Given the description of an element on the screen output the (x, y) to click on. 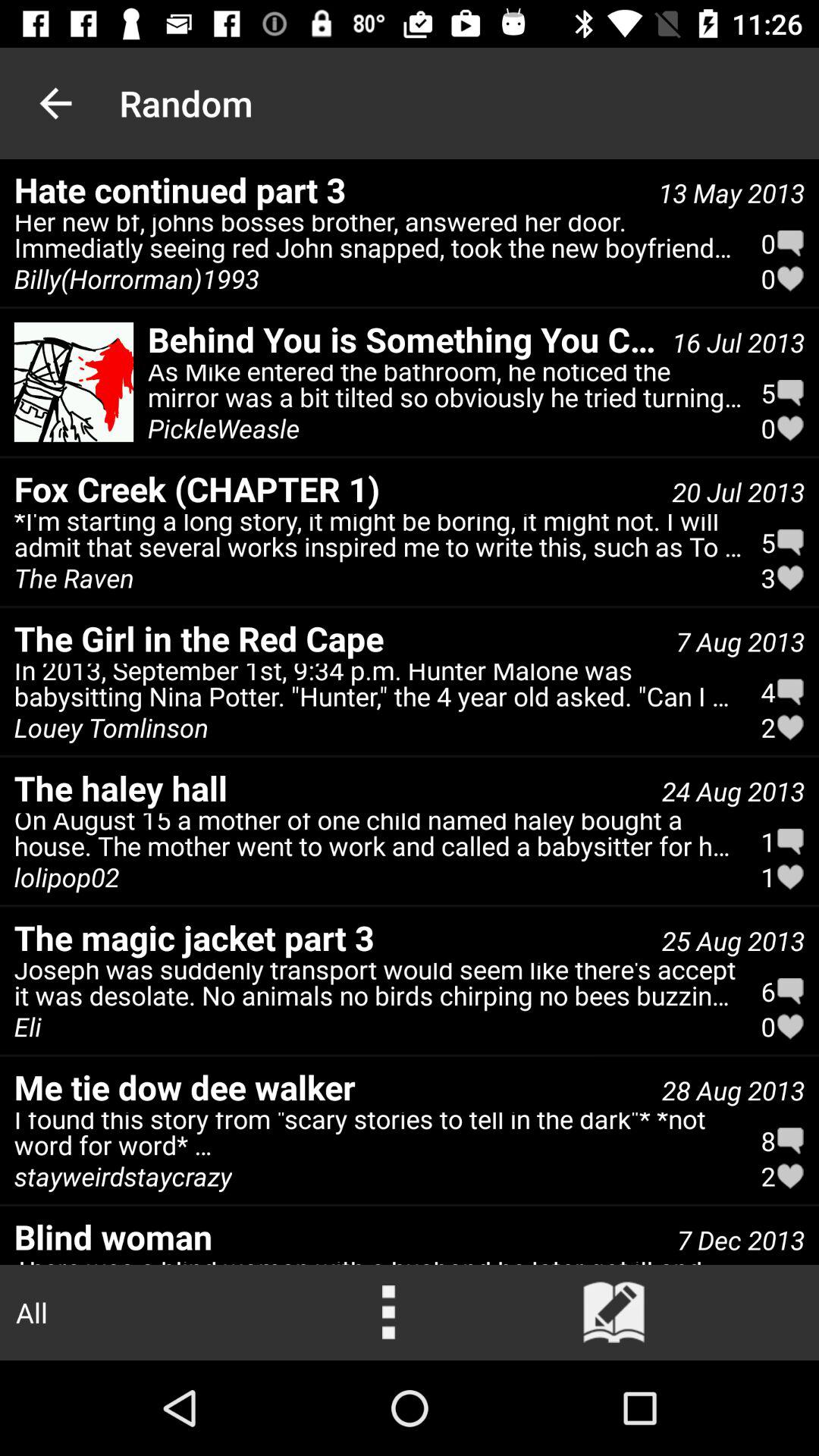
turn on item below the the girl in item (378, 688)
